Given the description of an element on the screen output the (x, y) to click on. 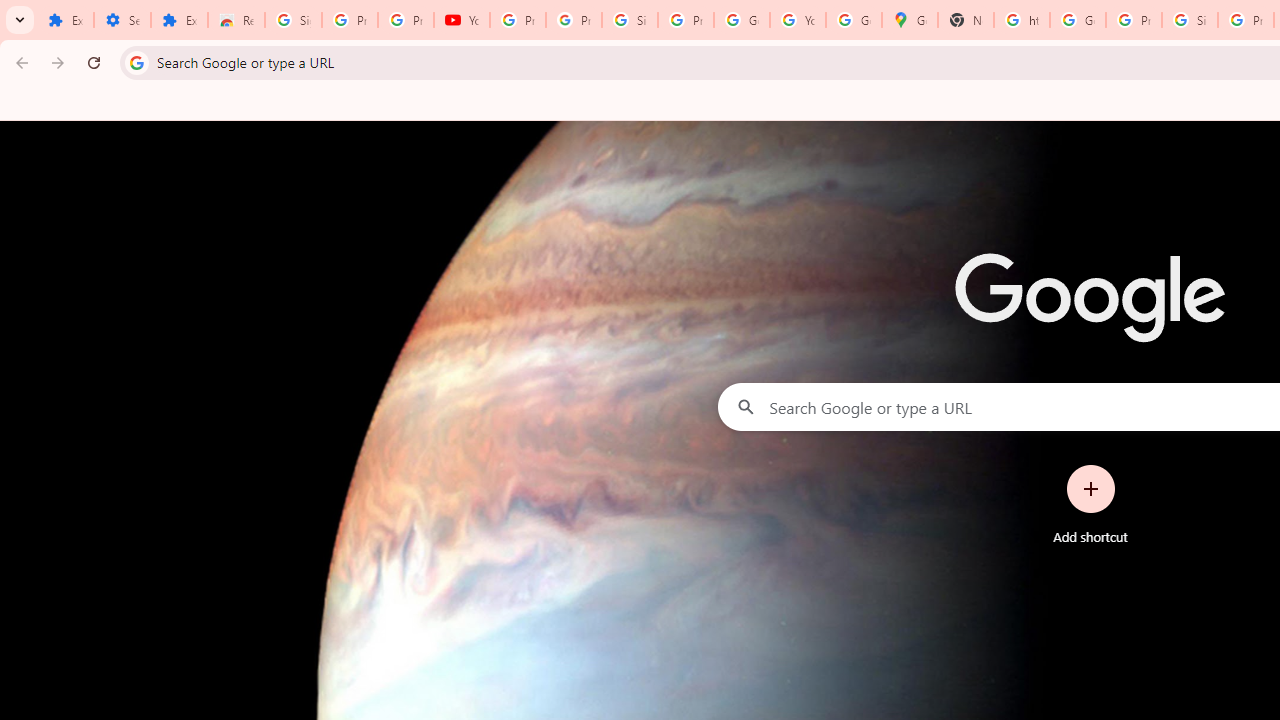
Sign in - Google Accounts (629, 20)
New Tab (966, 20)
YouTube (797, 20)
Google Maps (909, 20)
Reviews: Helix Fruit Jump Arcade Game (235, 20)
